Given the description of an element on the screen output the (x, y) to click on. 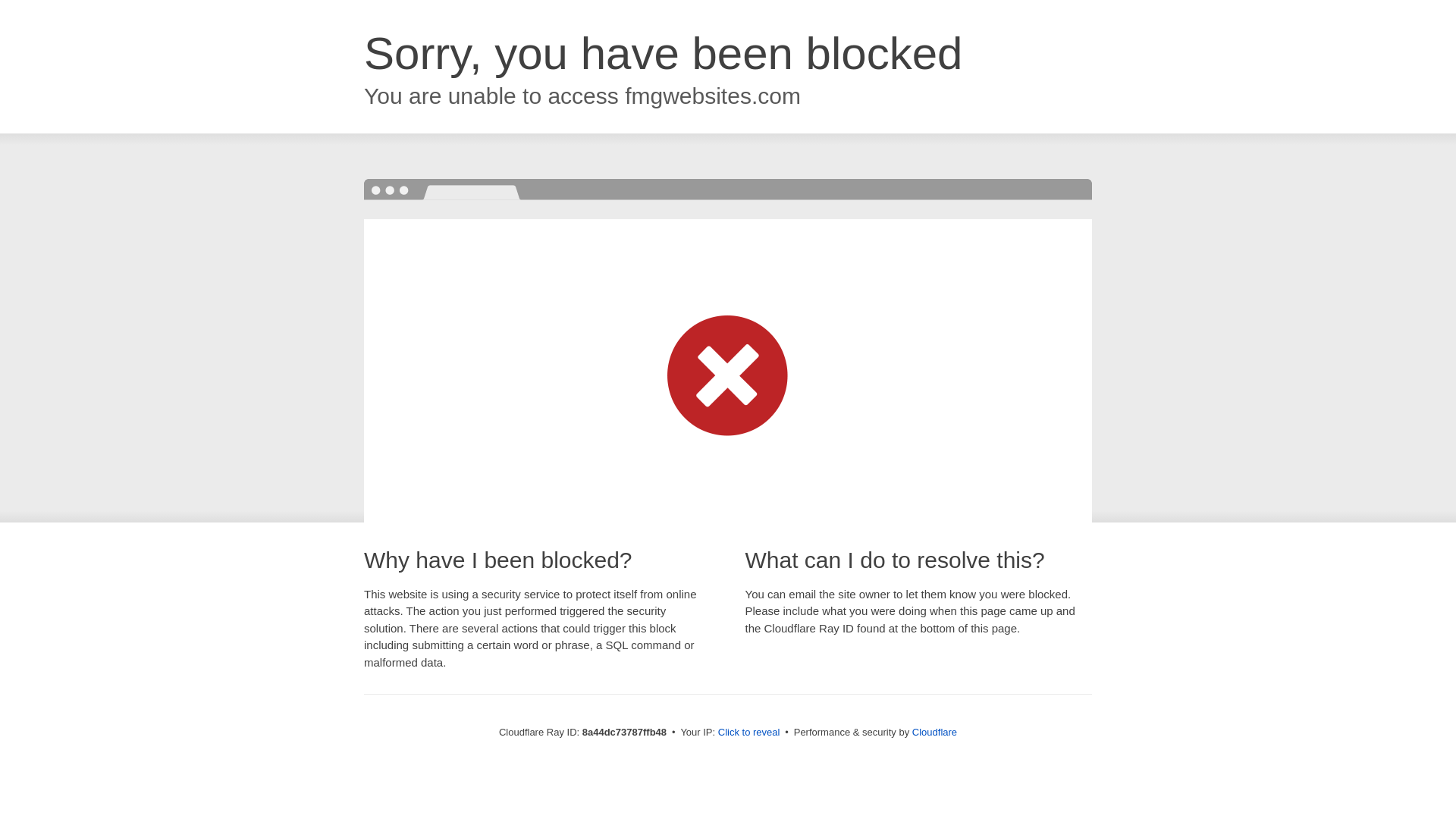
Click to reveal (748, 732)
Cloudflare (934, 731)
